Given the description of an element on the screen output the (x, y) to click on. 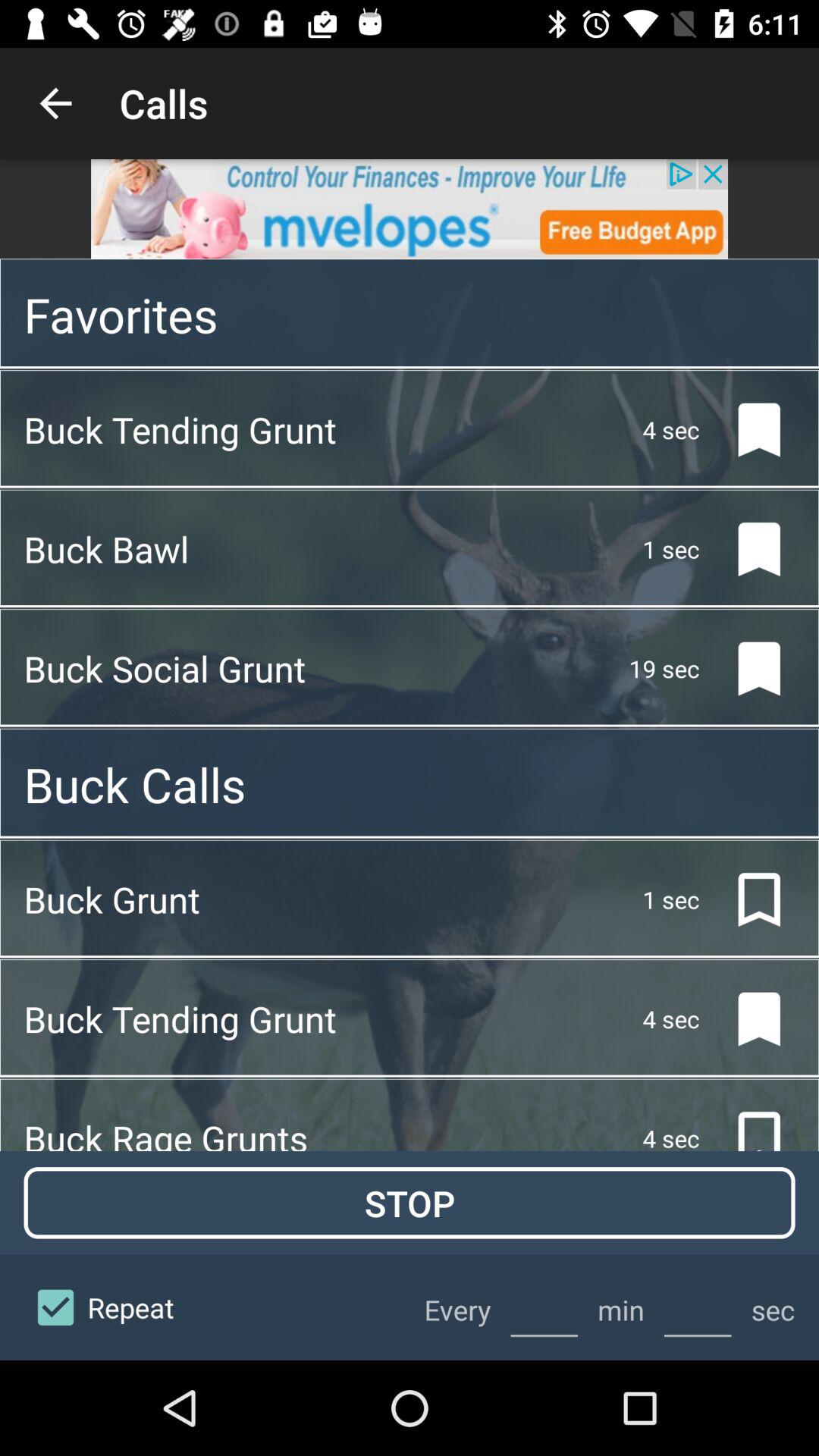
type the minutes (543, 1307)
